Given the description of an element on the screen output the (x, y) to click on. 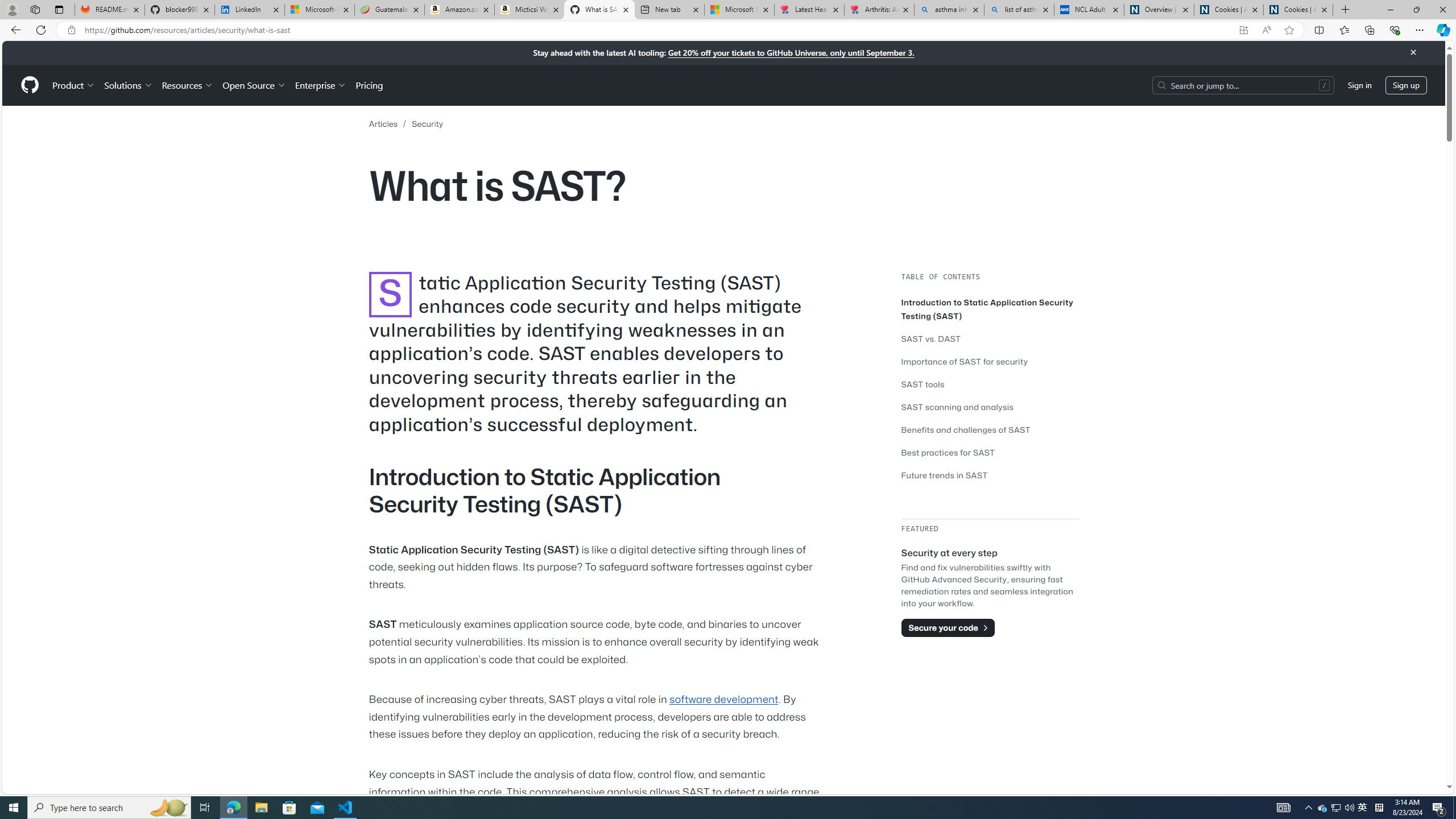
Benefits and challenges of SAST (965, 429)
